Given the description of an element on the screen output the (x, y) to click on. 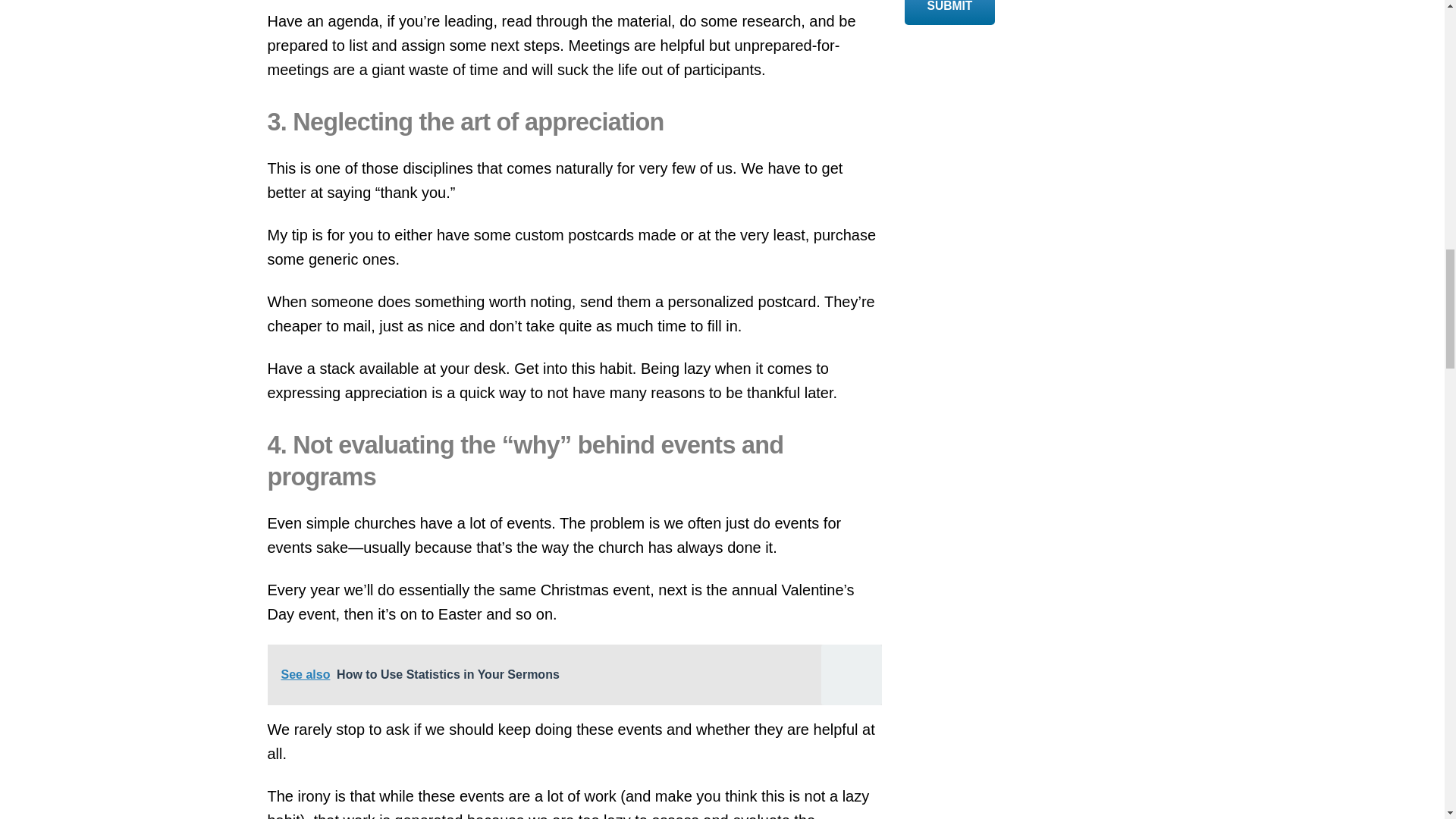
Submit (949, 12)
See also  How to Use Statistics in Your Sermons (573, 674)
